Given the description of an element on the screen output the (x, y) to click on. 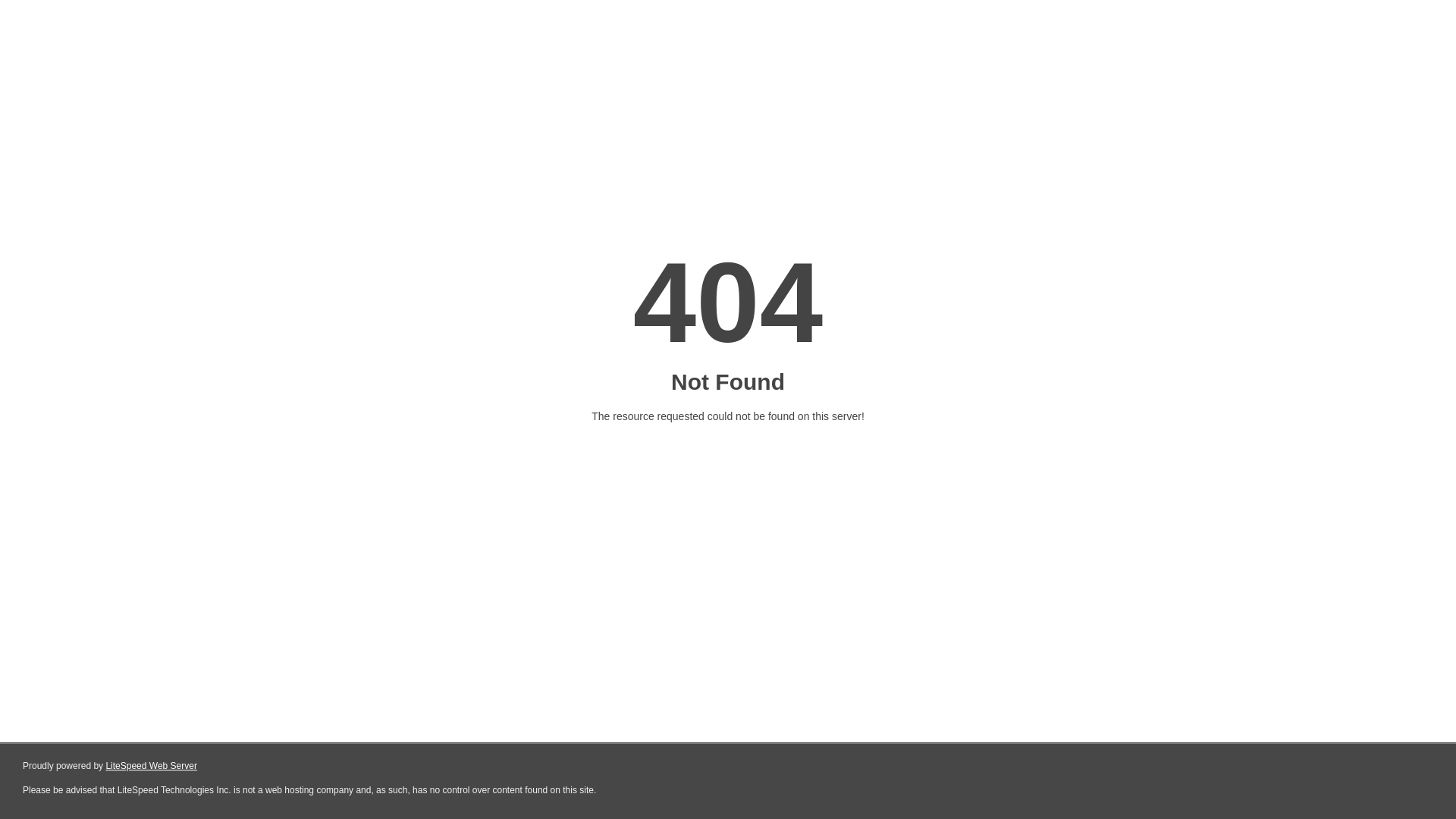
LiteSpeed Web Server (150, 765)
